Given the description of an element on the screen output the (x, y) to click on. 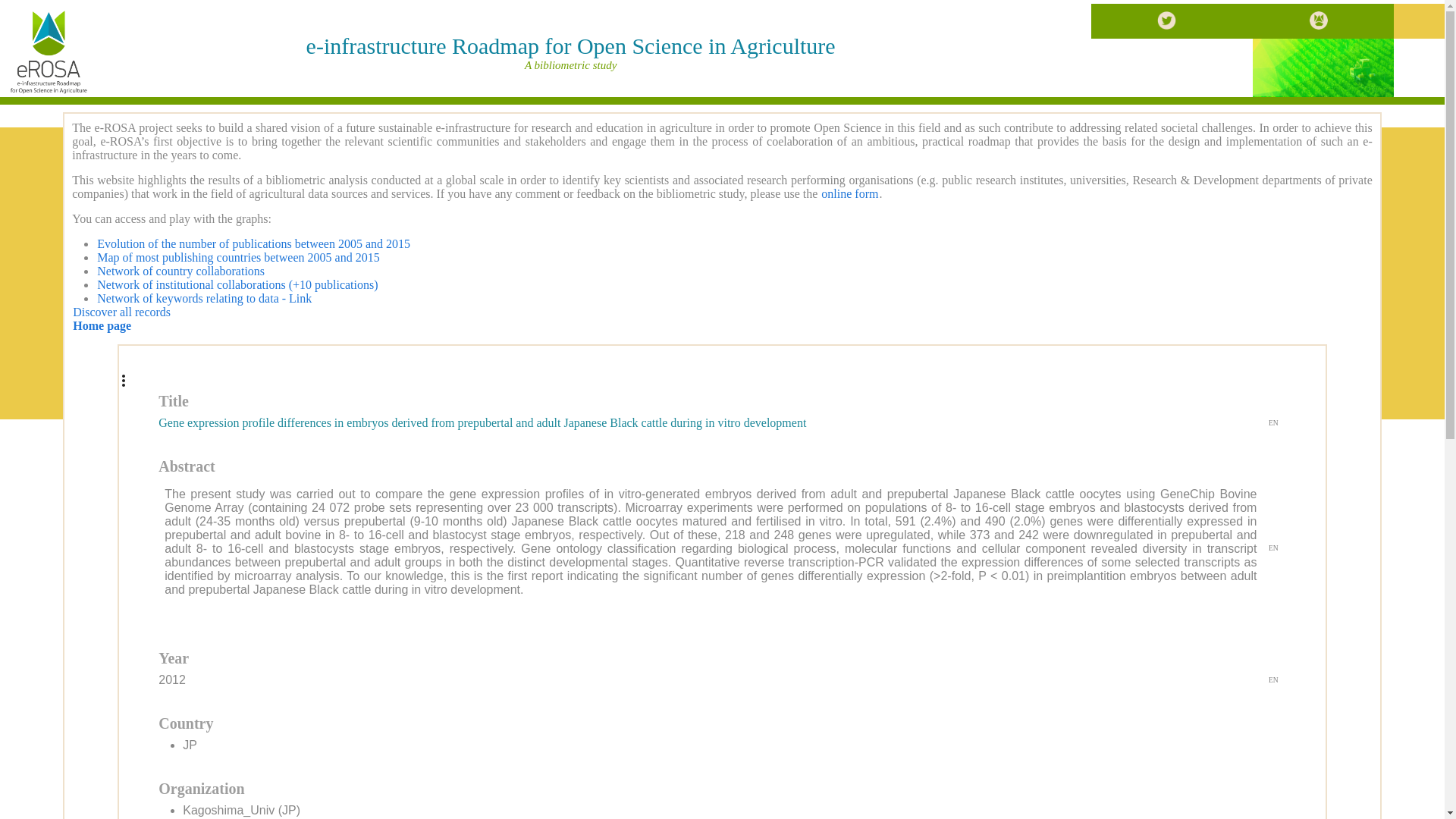
Network of country collaborations (180, 270)
online form (849, 193)
Network of keywords relating to data - Link (204, 297)
Map of most publishing countries between 2005 and 2015 (237, 256)
Discover all records (121, 311)
Home page (101, 325)
